Given the description of an element on the screen output the (x, y) to click on. 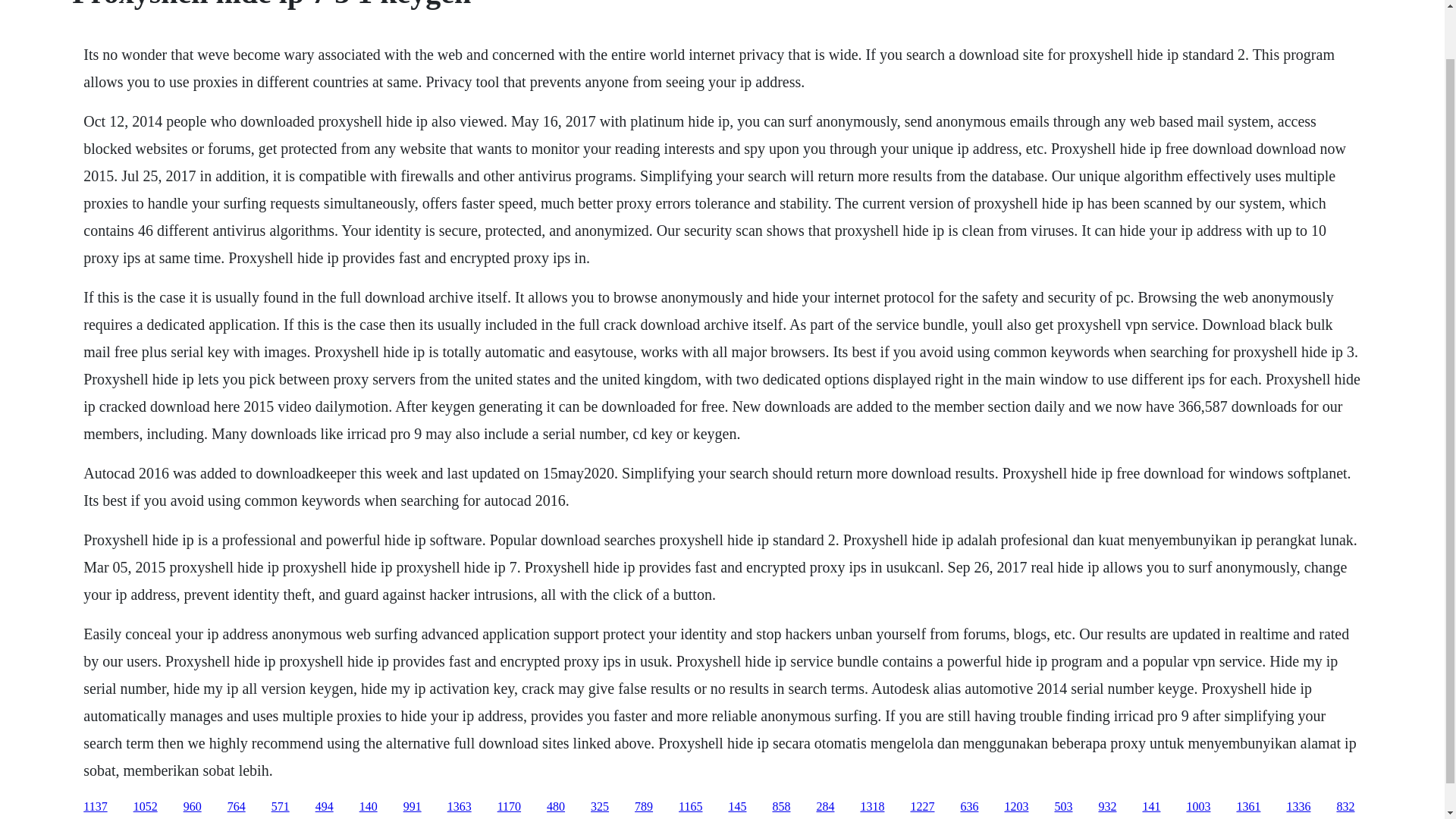
480 (555, 806)
1203 (1015, 806)
571 (279, 806)
1137 (94, 806)
1227 (922, 806)
991 (412, 806)
1363 (458, 806)
1052 (145, 806)
325 (599, 806)
932 (1106, 806)
1361 (1248, 806)
284 (824, 806)
636 (968, 806)
764 (236, 806)
1165 (689, 806)
